Given the description of an element on the screen output the (x, y) to click on. 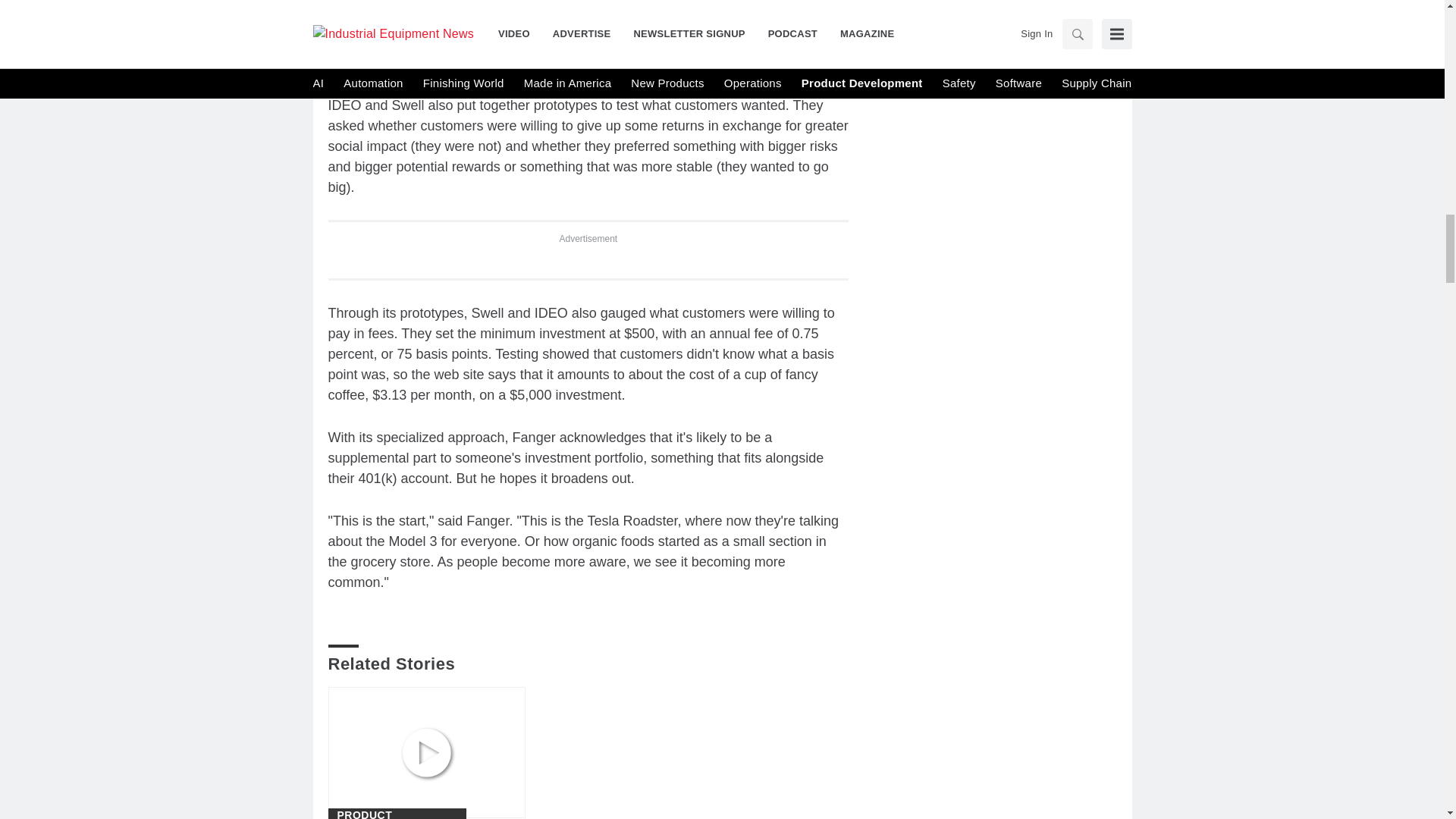
Product Development (396, 814)
